Given the description of an element on the screen output the (x, y) to click on. 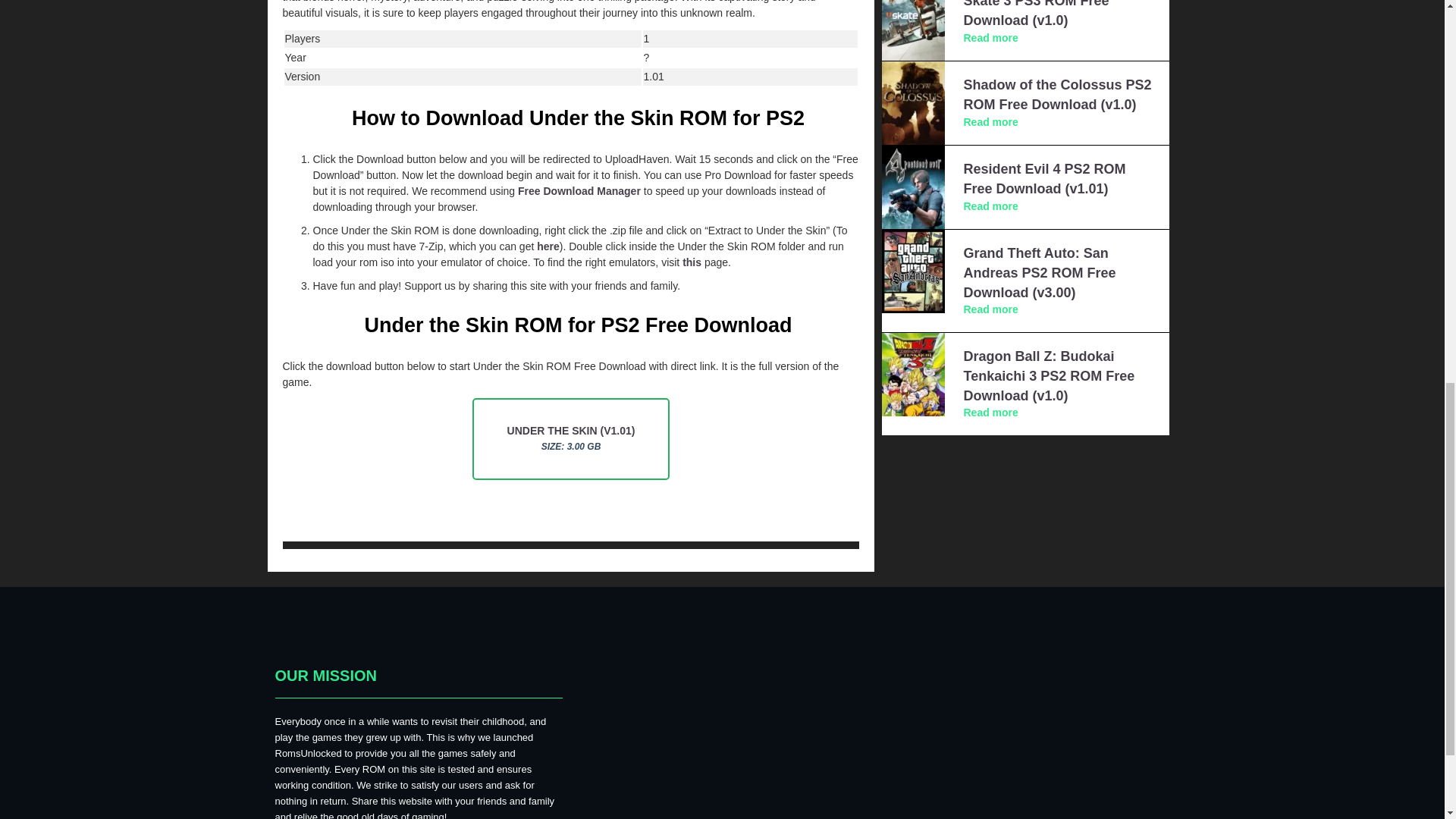
this (691, 262)
Read more (989, 309)
here (548, 246)
Free Download Manager (579, 191)
Read more (989, 121)
Read more (989, 205)
Read more (989, 37)
